Given the description of an element on the screen output the (x, y) to click on. 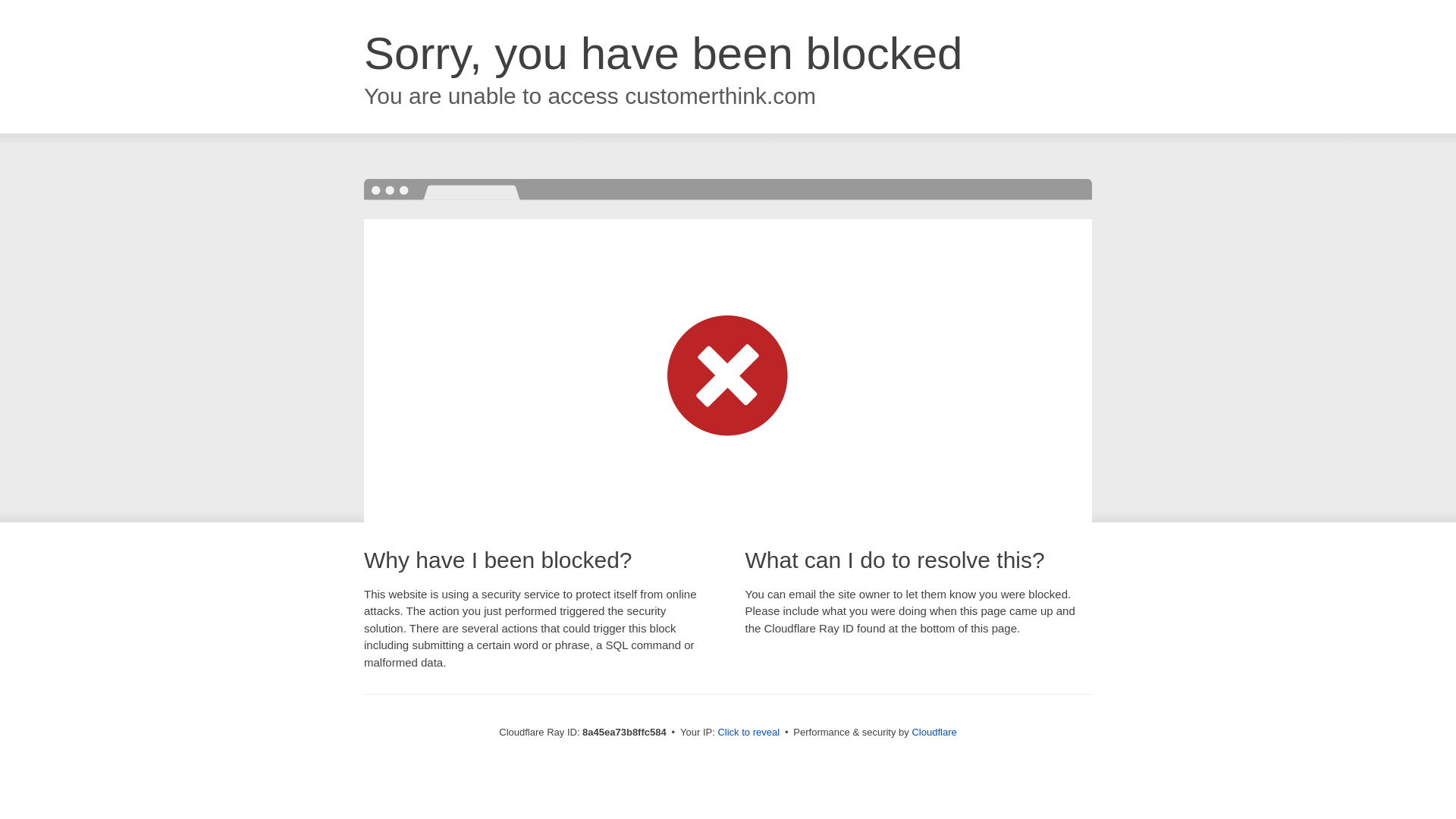
Cloudflare (933, 731)
Click to reveal (747, 732)
